Given the description of an element on the screen output the (x, y) to click on. 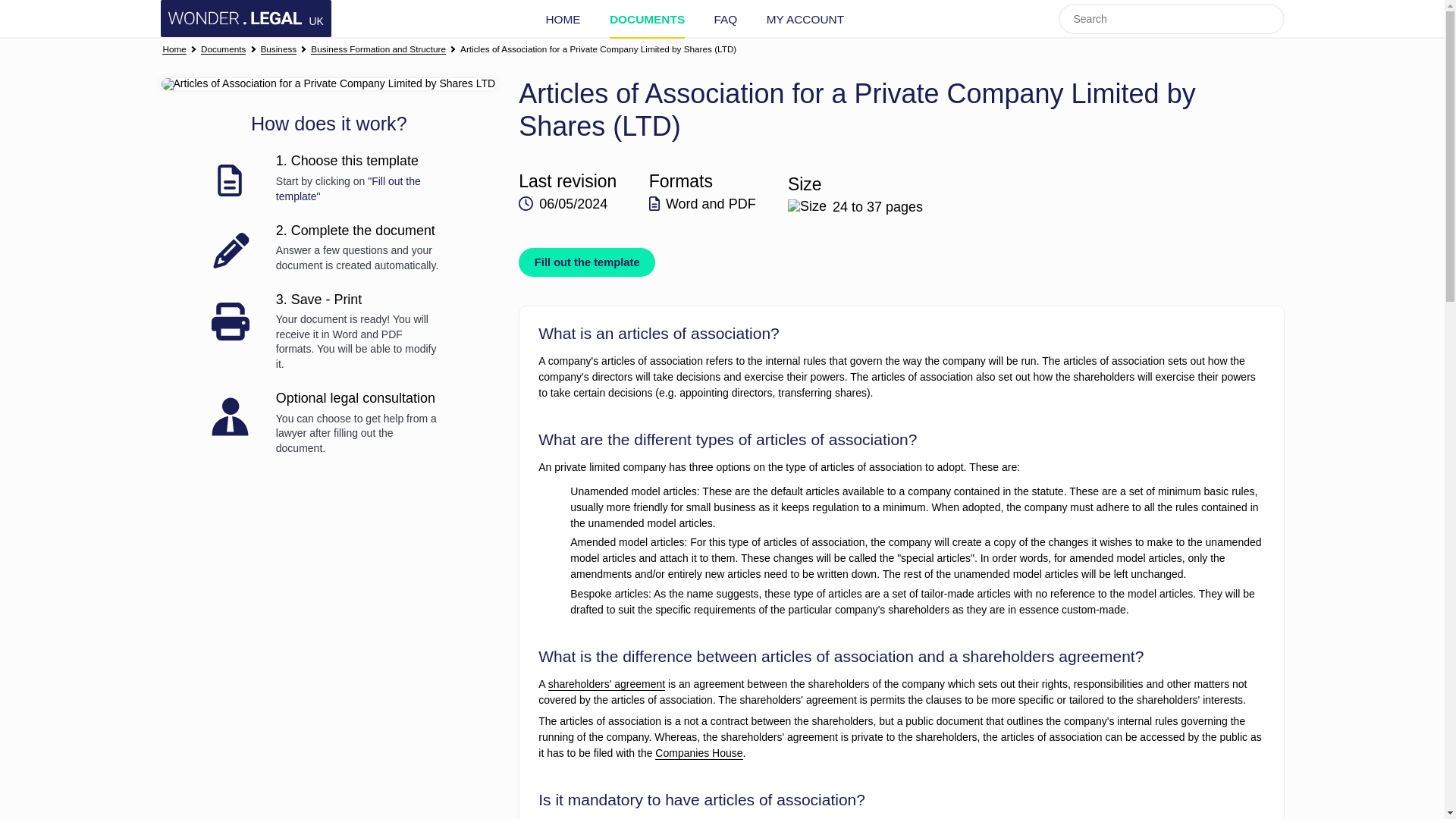
Search (1268, 18)
MY ACCOUNT (805, 19)
Fill out the template (586, 262)
Get started for free (328, 83)
shareholders' agreement (606, 684)
Search (1268, 18)
"Fill out the template" (348, 188)
Business (278, 49)
DOCUMENTS (647, 19)
HOME (561, 19)
Business Formation and Structure (378, 49)
Home (173, 49)
UK (245, 18)
Companies House (698, 753)
Search (1268, 18)
